Given the description of an element on the screen output the (x, y) to click on. 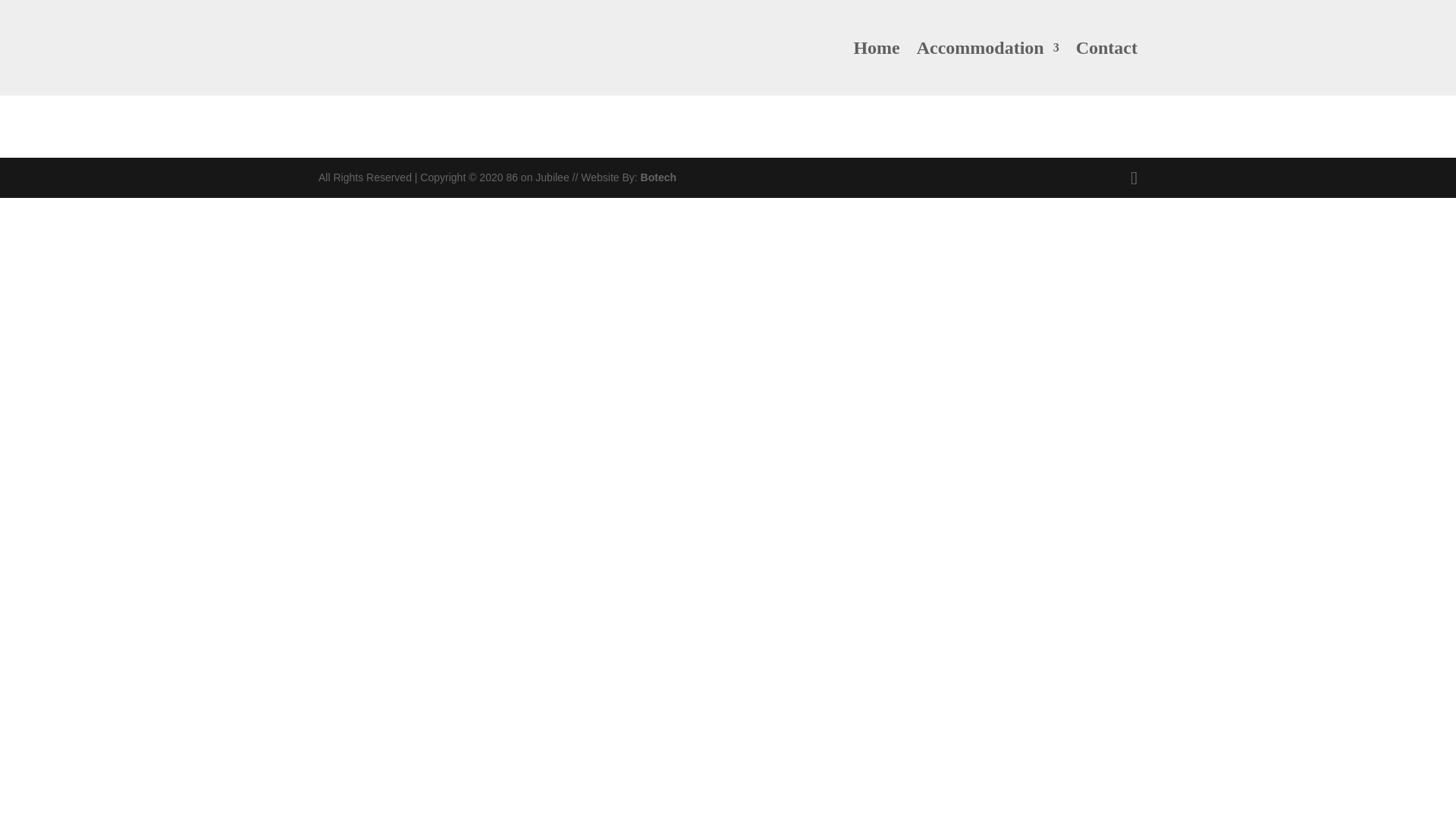
Accommodation (988, 68)
Contact (1106, 68)
Botech (658, 177)
Home (876, 68)
